Given the description of an element on the screen output the (x, y) to click on. 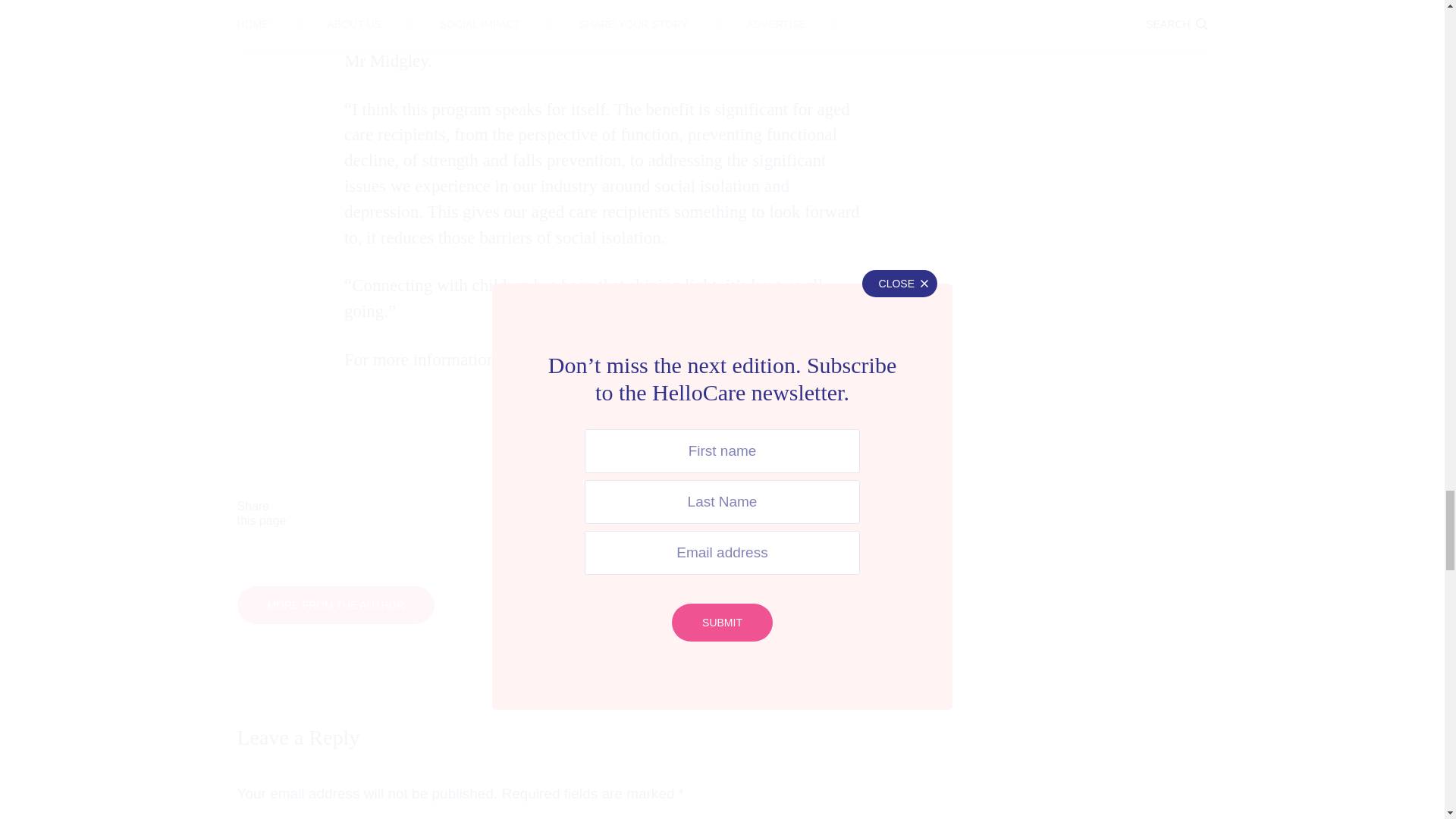
Share on linkedIn (652, 513)
Share via Email (792, 513)
Share on Twitter (512, 513)
Share on Facebook (372, 513)
